Given the description of an element on the screen output the (x, y) to click on. 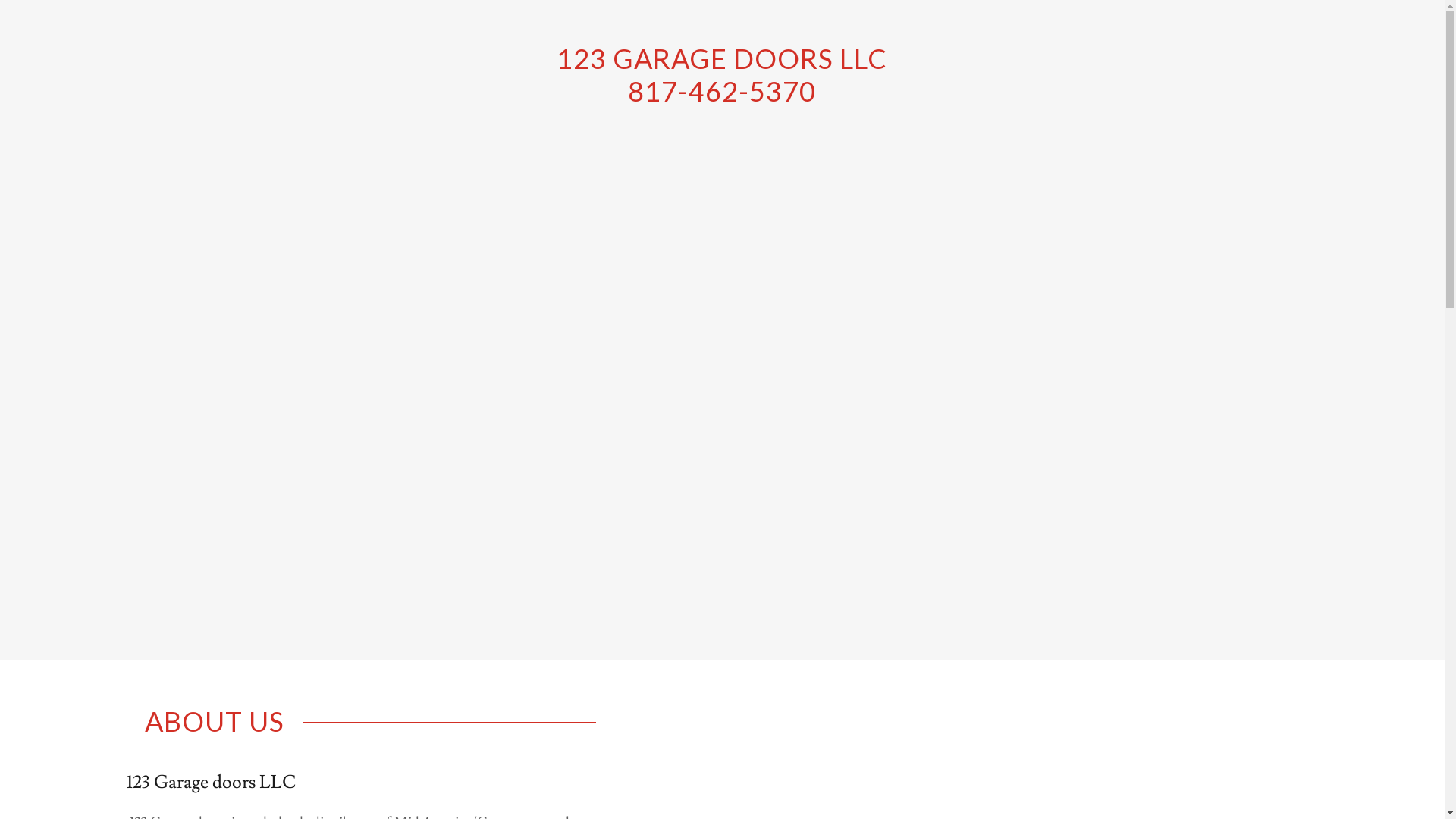
123 GARAGE DOORS LLC
817-462-5370 Element type: text (721, 97)
